Given the description of an element on the screen output the (x, y) to click on. 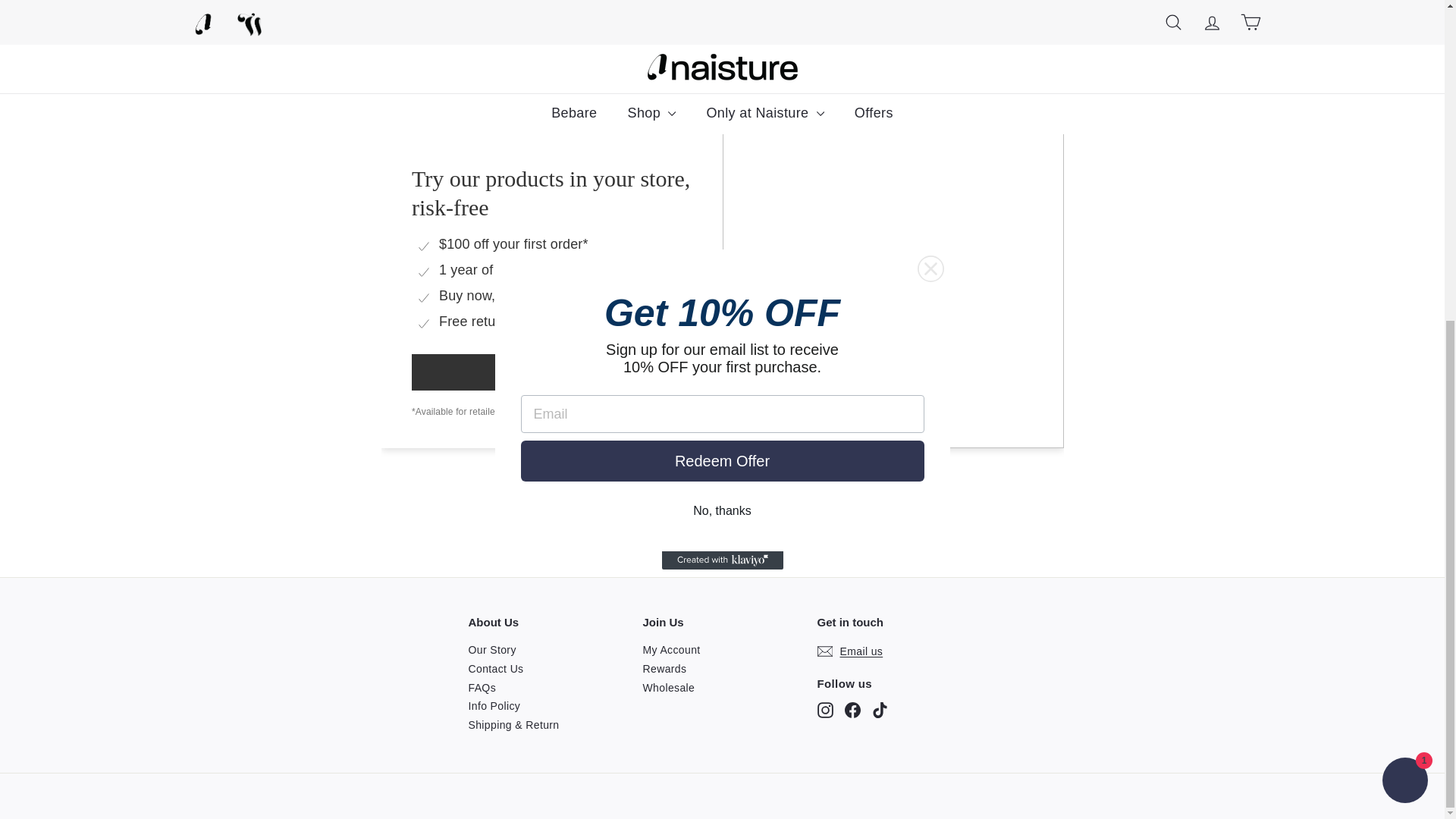
Naisture on Facebook (852, 709)
instagram (824, 709)
Shopify online store chat (1404, 260)
Naisture on TikTok (880, 709)
Naisture on Instagram (824, 709)
